Given the description of an element on the screen output the (x, y) to click on. 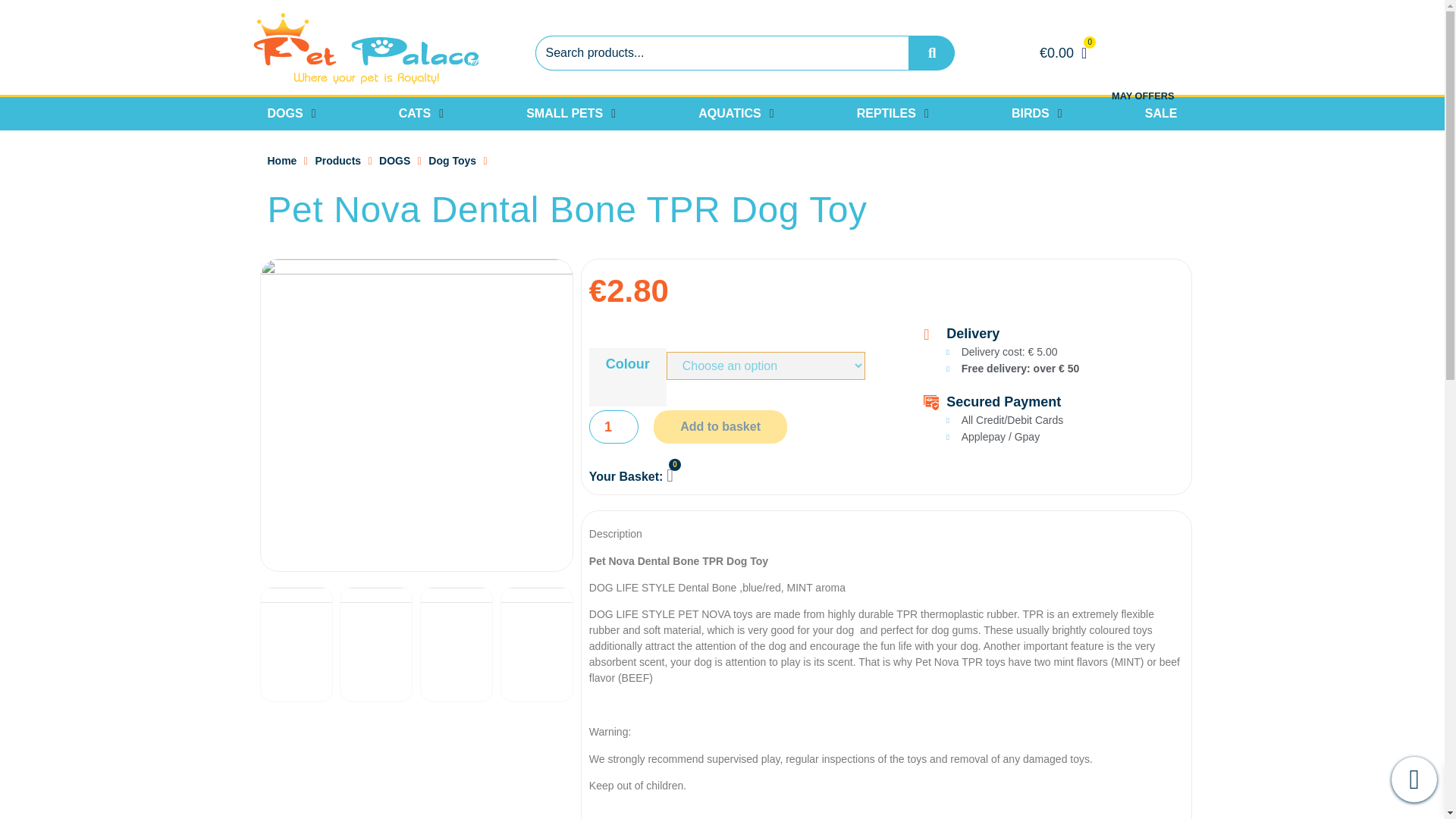
DOGS (394, 160)
DOGS (284, 113)
TPR-SUPERDENTBONE-RE kopia (415, 414)
1 (614, 426)
Dog Toys (452, 160)
Home (281, 160)
TPR-SUPERDENTBONE-BL (455, 644)
TPR-SUPERDENTBONE-BL kopia (375, 644)
TPR-SUPERDENTBONE-RE (537, 644)
TPR-SUPERDENTBONE-RE kopia (295, 644)
Products (337, 160)
